Given the description of an element on the screen output the (x, y) to click on. 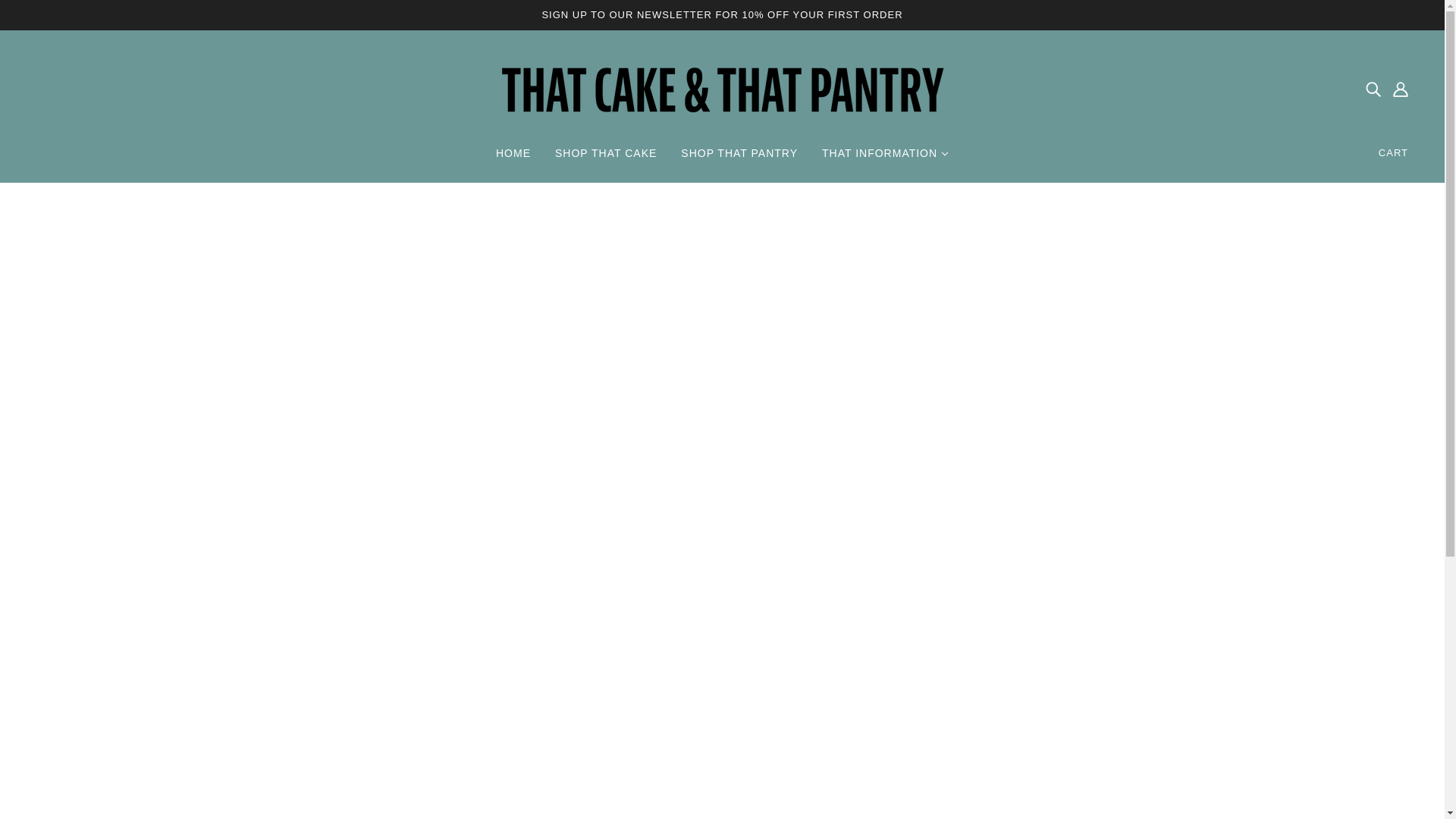
HOME (513, 158)
CART (1394, 152)
SHOP THAT CAKE (605, 158)
SHOP THAT PANTRY (738, 158)
THAT INFORMATION (884, 158)
